Given the description of an element on the screen output the (x, y) to click on. 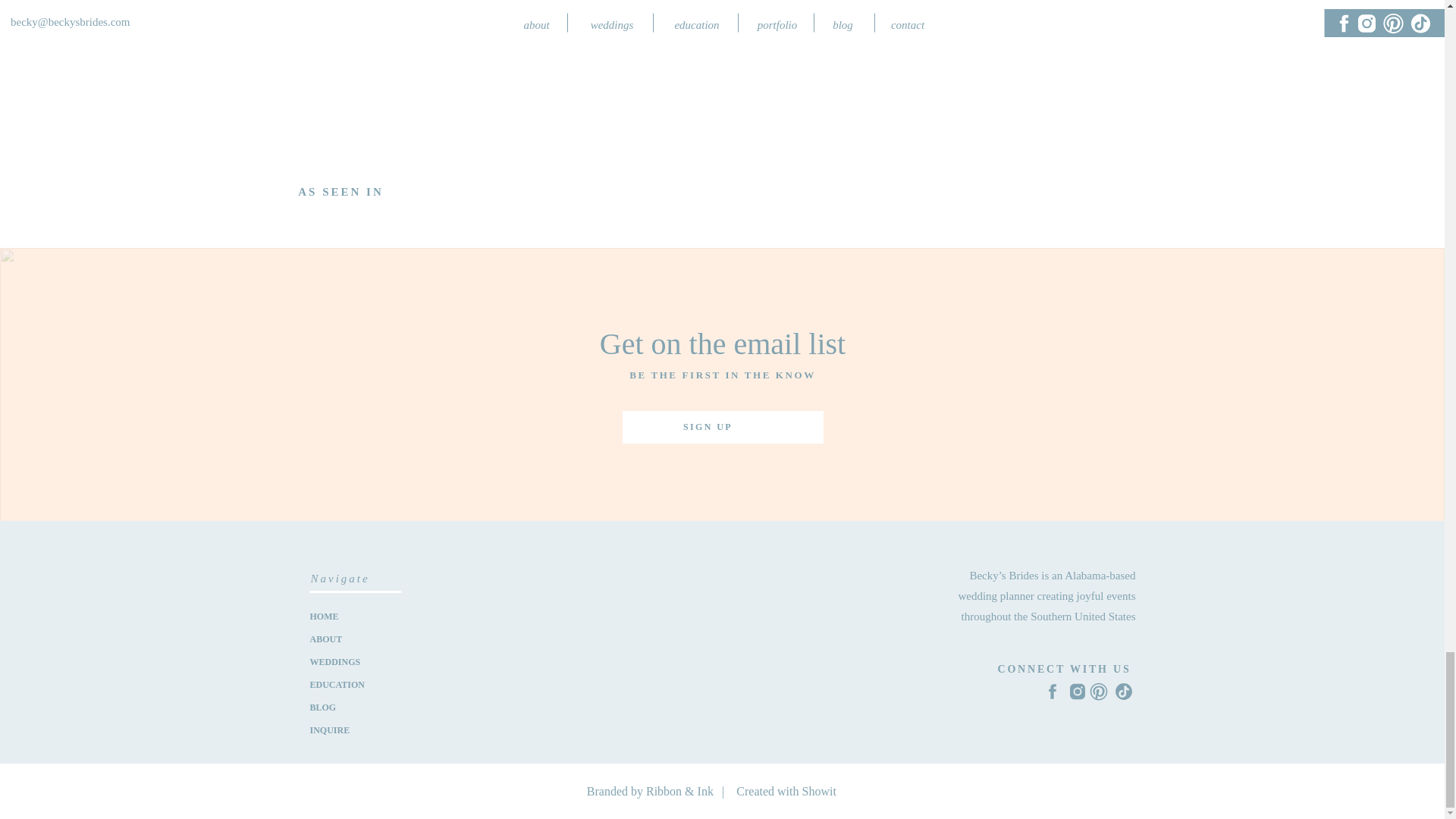
HOME (354, 613)
WEDDINGS (354, 660)
ABOUT (354, 638)
SIGN UP (707, 427)
EDUCATION (354, 683)
BLOG (354, 706)
INQUIRE (354, 729)
